Given the description of an element on the screen output the (x, y) to click on. 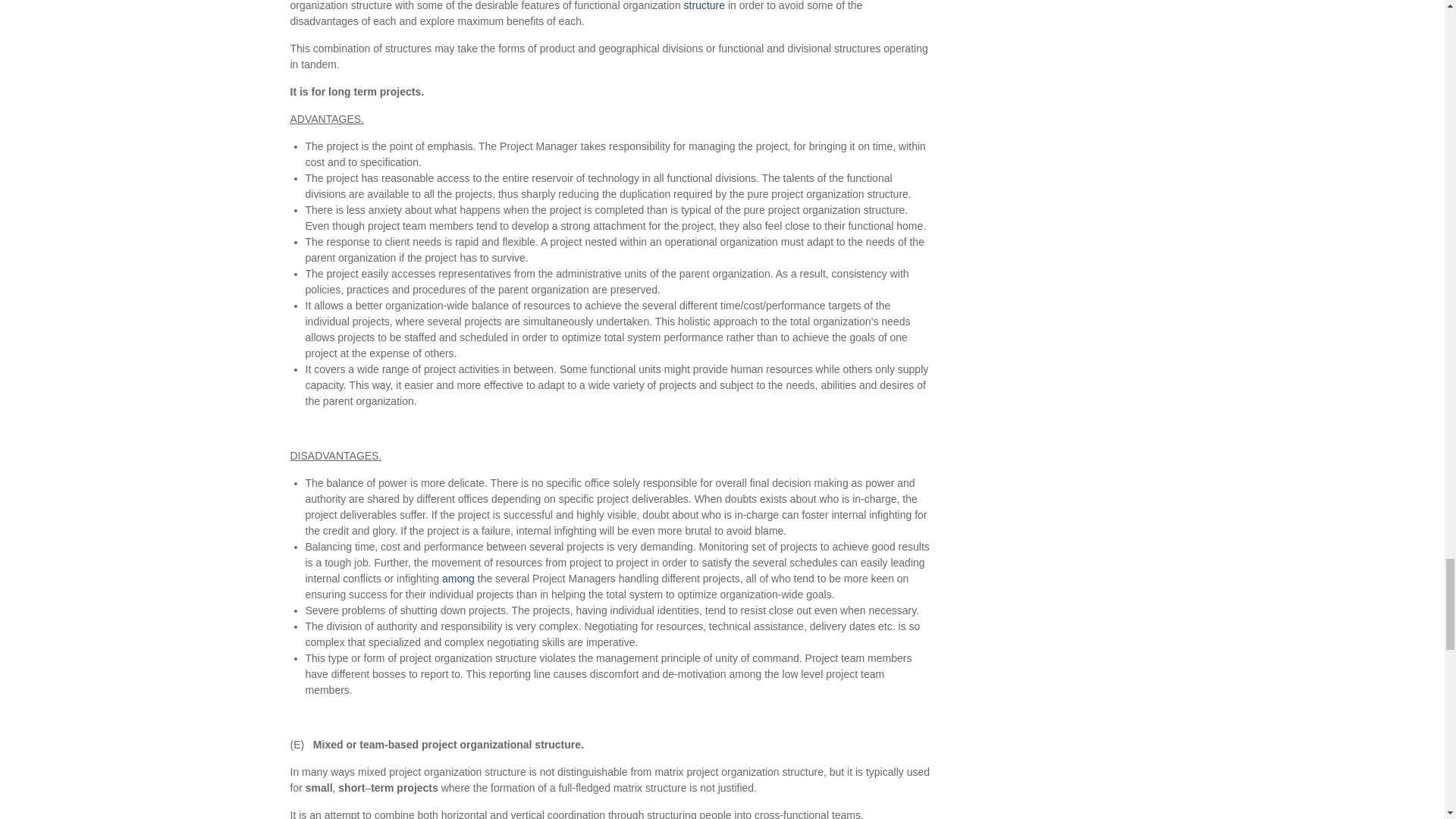
structure (704, 5)
among (458, 577)
